Given the description of an element on the screen output the (x, y) to click on. 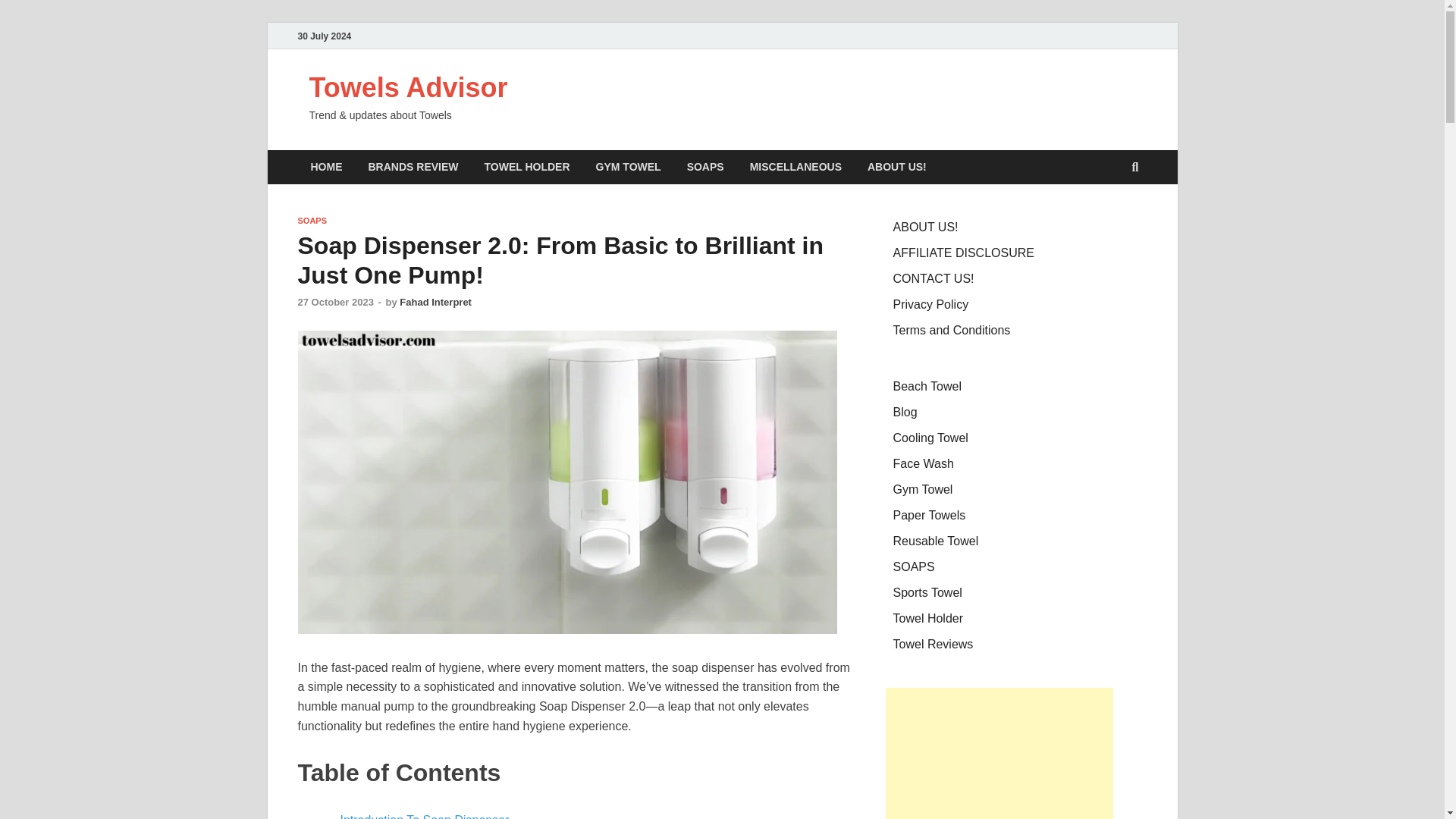
MISCELLANEOUS (795, 166)
HOME (326, 166)
SOAPS (705, 166)
Fahad Interpret (434, 301)
Advertisement (999, 753)
Introduction To Soap Dispenser (423, 816)
ABOUT US! (896, 166)
GYM TOWEL (628, 166)
27 October 2023 (334, 301)
Towels Advisor (408, 87)
TOWEL HOLDER (527, 166)
BRANDS REVIEW (412, 166)
SOAPS (311, 220)
